Given the description of an element on the screen output the (x, y) to click on. 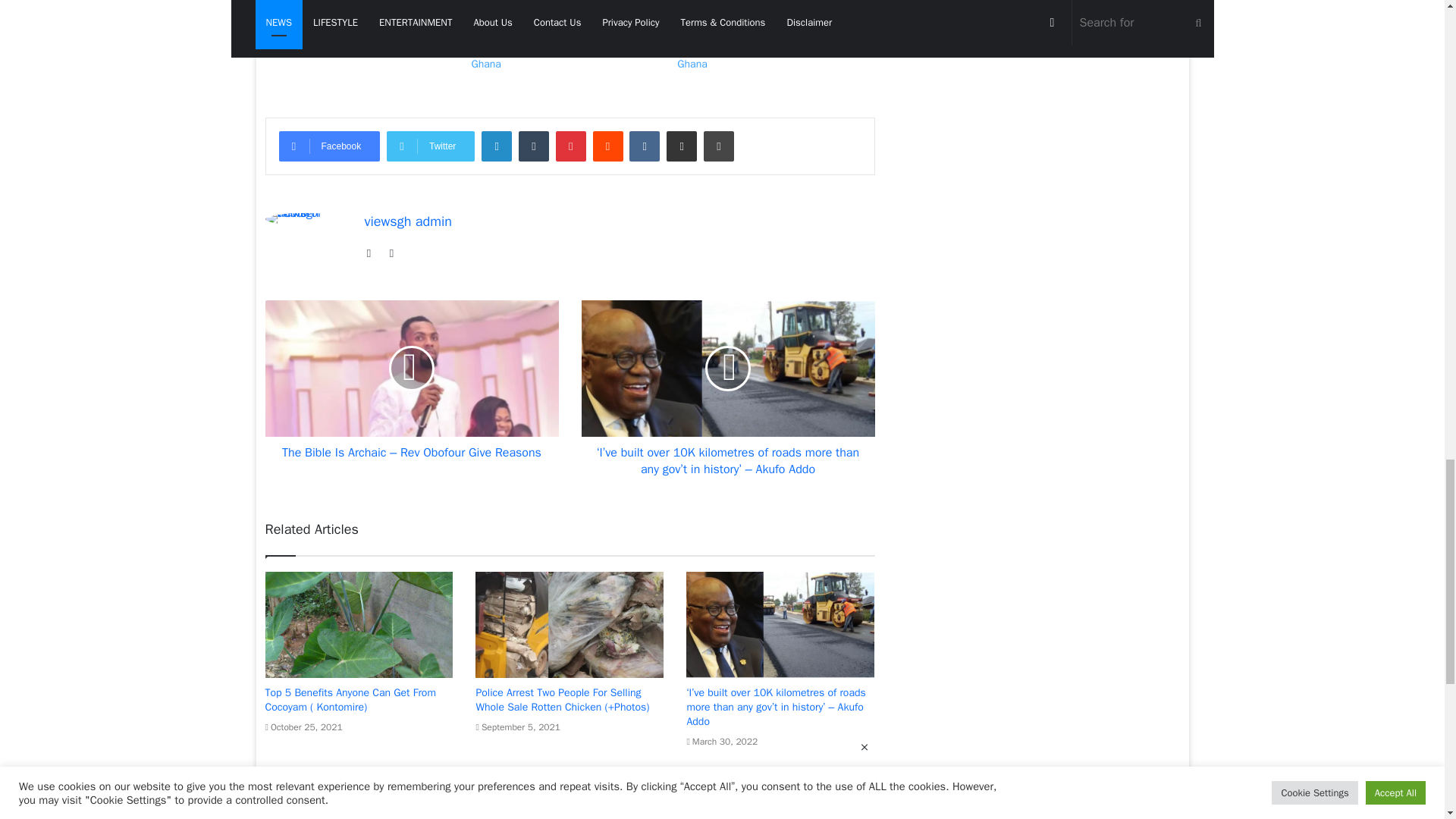
LinkedIn (496, 146)
Facebook (329, 146)
Twitter (430, 146)
Print (718, 146)
Reddit (607, 146)
VKontakte (643, 146)
Share via Email (681, 146)
Tumblr (533, 146)
Pinterest (571, 146)
